Given the description of an element on the screen output the (x, y) to click on. 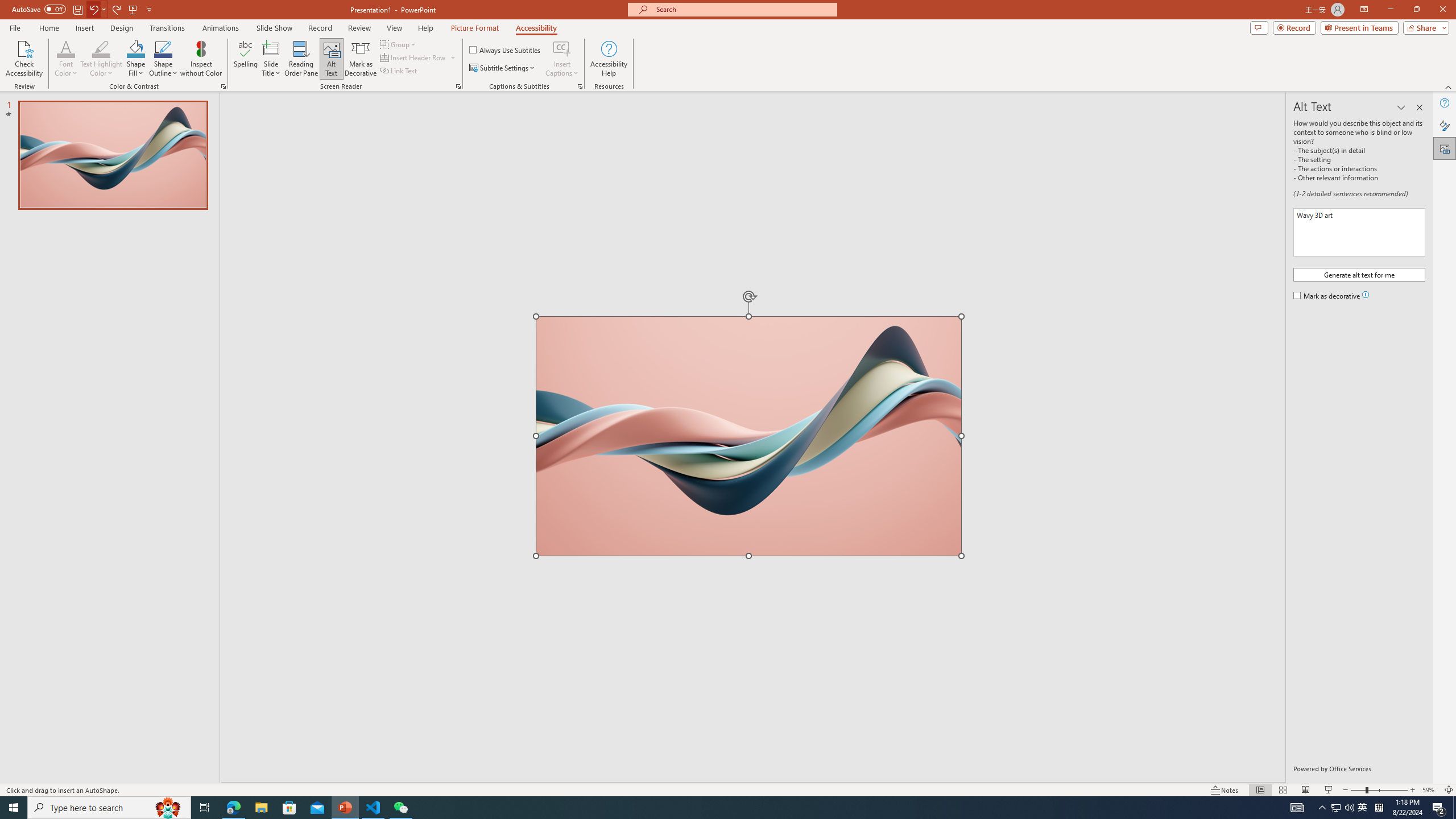
Mark as decorative (1327, 296)
Inspect without Color (201, 58)
Zoom 59% (1430, 790)
